Given the description of an element on the screen output the (x, y) to click on. 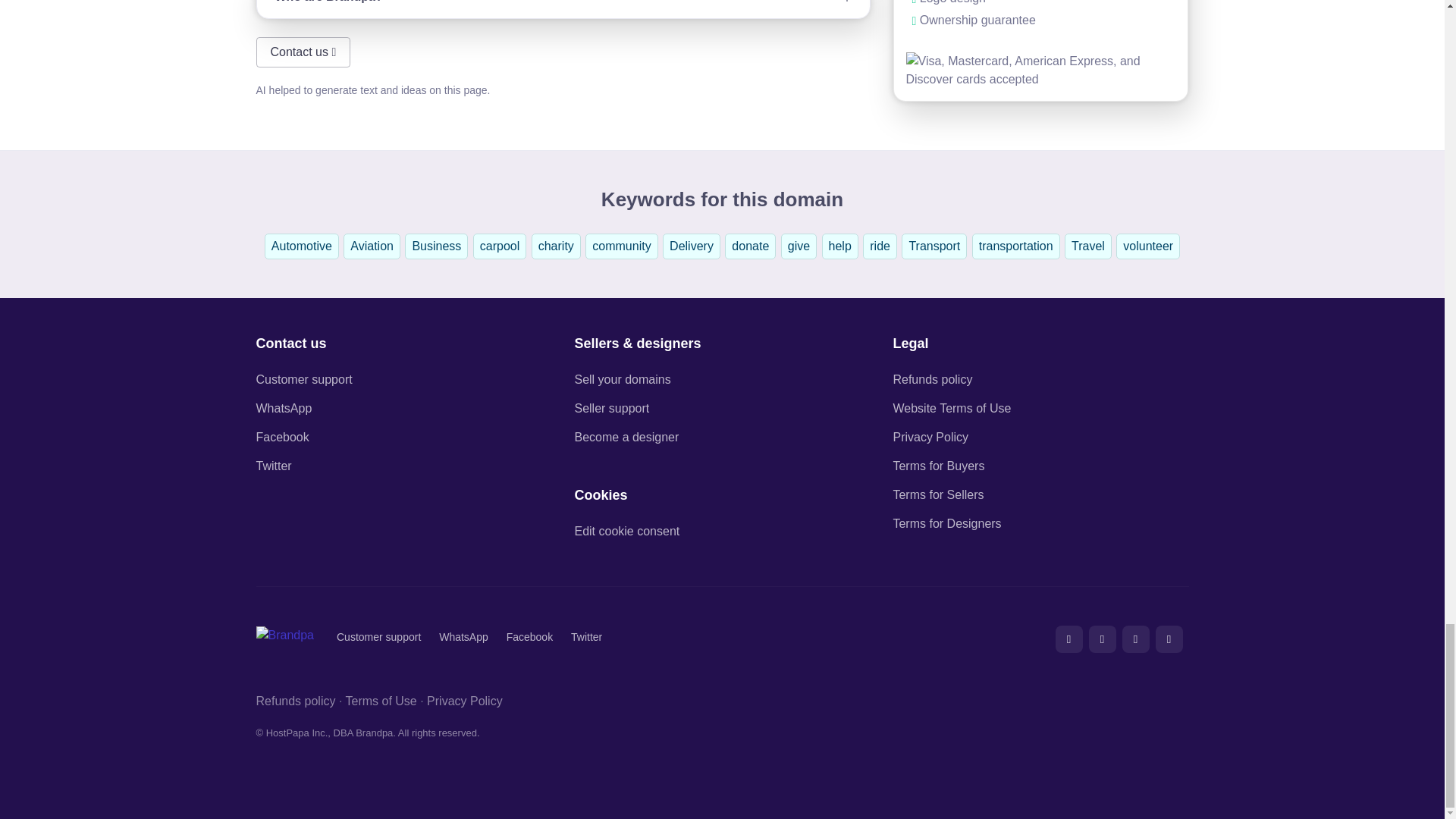
Who are Brandpa? (562, 9)
